Given the description of an element on the screen output the (x, y) to click on. 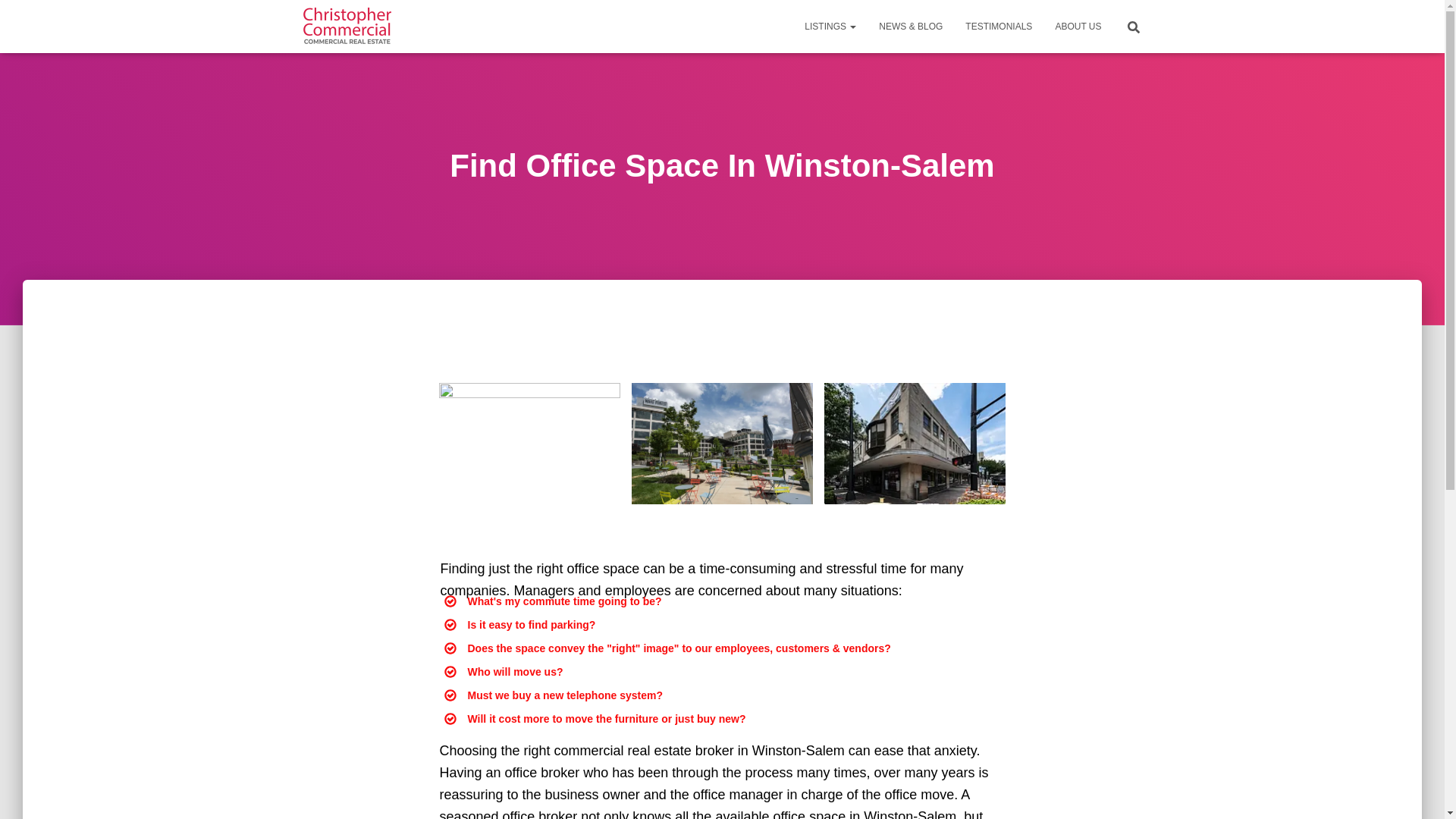
LISTINGS (830, 26)
About Us (1077, 26)
Christopher Commercial Real Estate (346, 26)
TESTIMONIALS (998, 26)
ABOUT US (1077, 26)
Testimonials (998, 26)
Listings (830, 26)
